Given the description of an element on the screen output the (x, y) to click on. 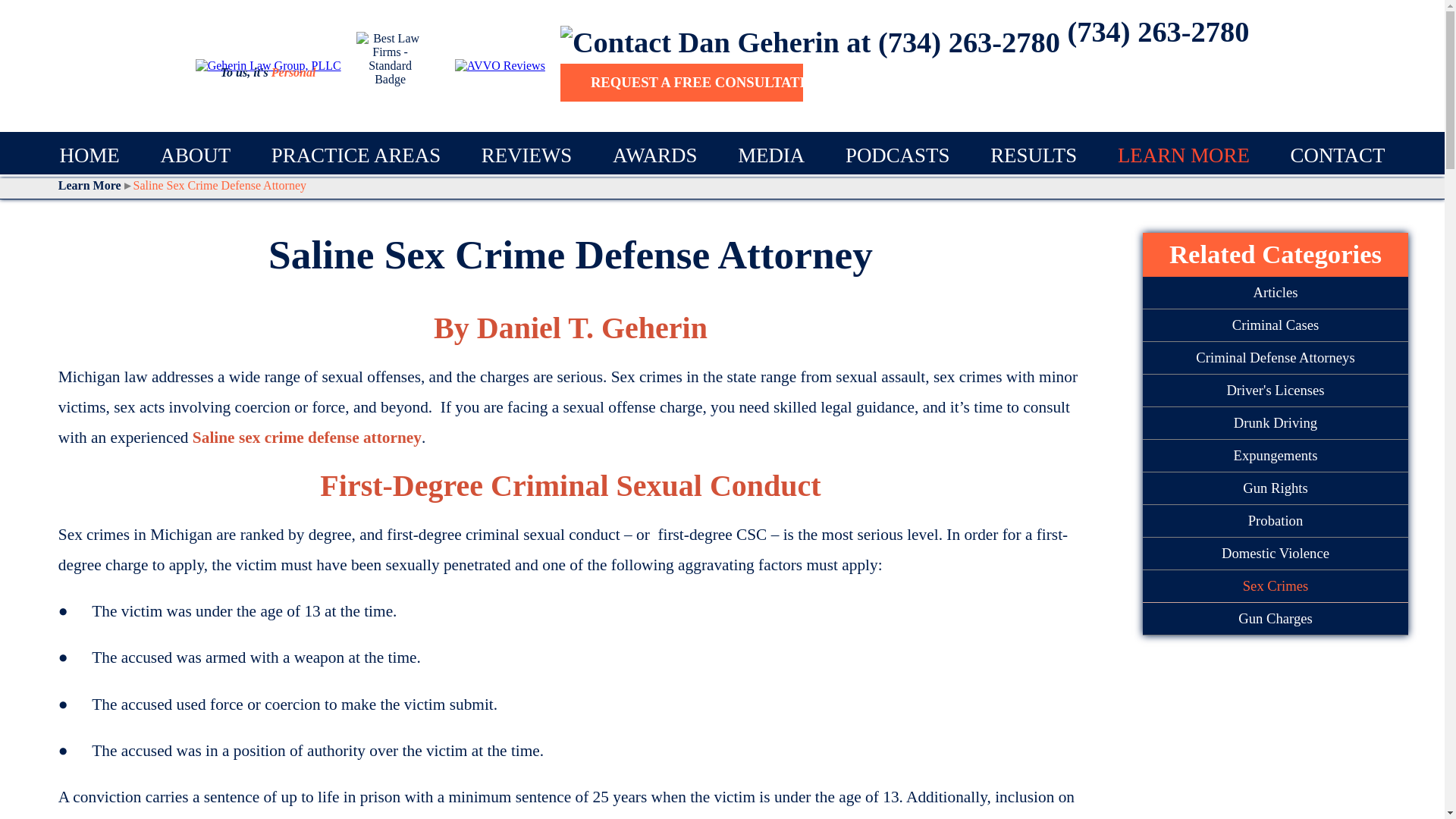
Best Law Firms - Standard Badge (390, 65)
Criminal Defense Attorneys (1274, 358)
Learn More (94, 185)
MEDIA (771, 155)
PRACTICE AREAS (355, 155)
REVIEWS (526, 155)
Saline Sex Crime Defense Attorney (219, 185)
Criminal Cases (1274, 325)
CONTACT (1337, 155)
RESULTS (1033, 155)
